Given the description of an element on the screen output the (x, y) to click on. 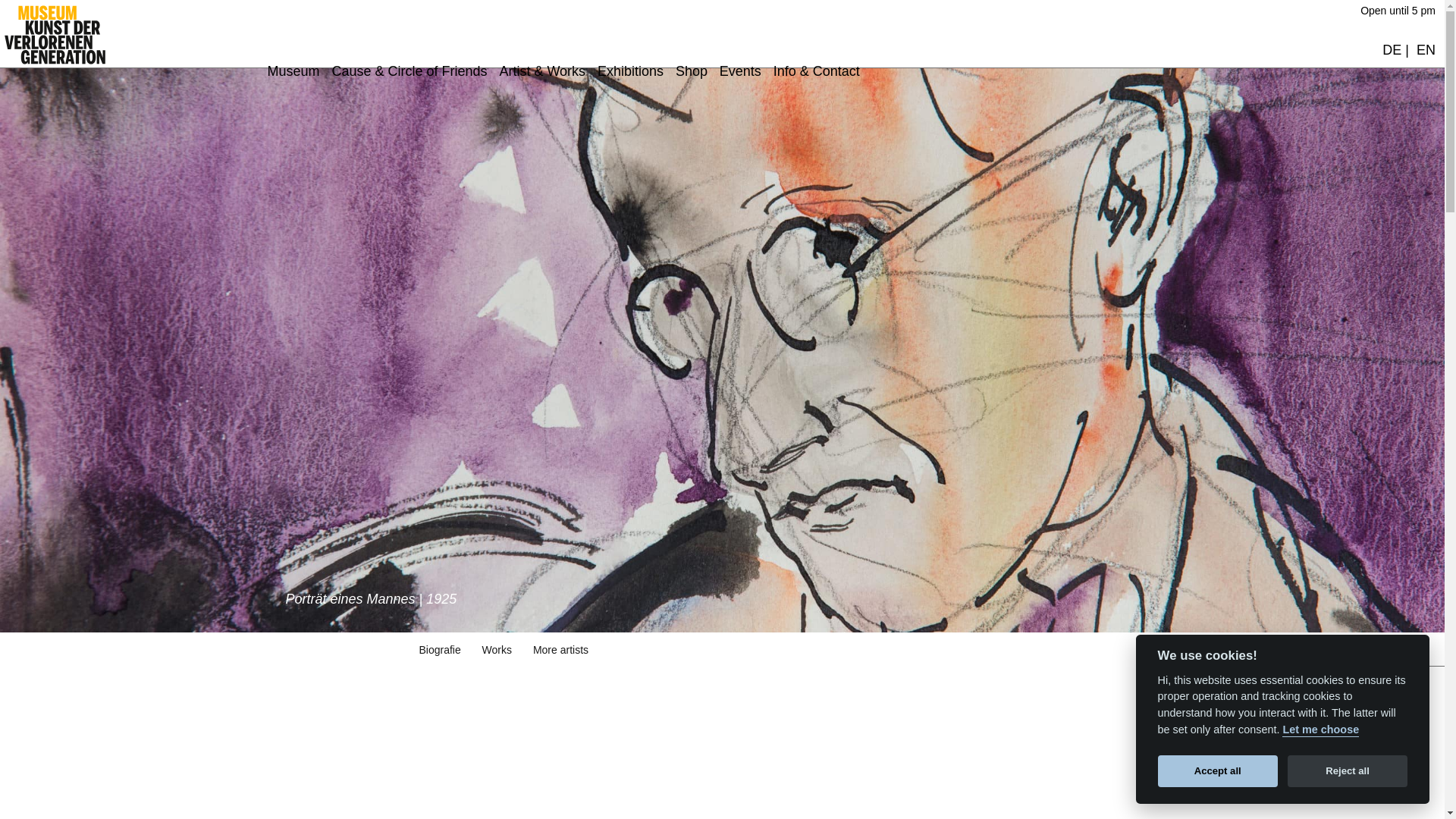
Biografie (439, 649)
DE (1390, 49)
Shop (691, 70)
EN (478, 301)
More artists (560, 649)
Exhibitions (629, 70)
Shop (462, 203)
Events (462, 236)
Events (740, 70)
DE (446, 301)
Museum (292, 70)
Museum (461, 73)
EN (1425, 49)
Exhibitions (462, 170)
Works (496, 649)
